Given the description of an element on the screen output the (x, y) to click on. 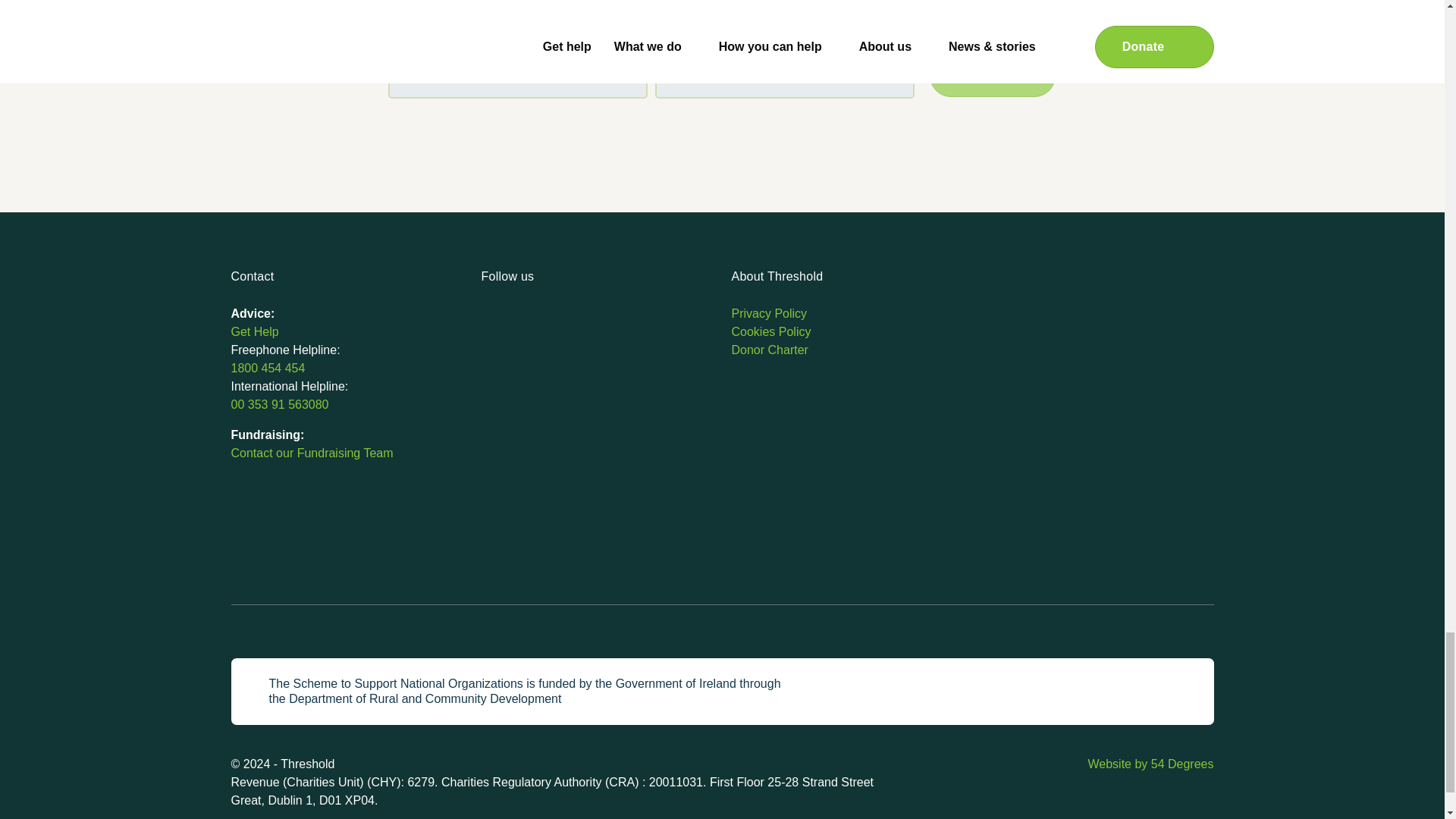
00 353 91 563080 (279, 404)
Sign up (992, 75)
Contact our Fundraising Team (311, 452)
Instagram (523, 317)
Get Help (254, 331)
1800 454 454 (267, 367)
Sign up (992, 75)
